Given the description of an element on the screen output the (x, y) to click on. 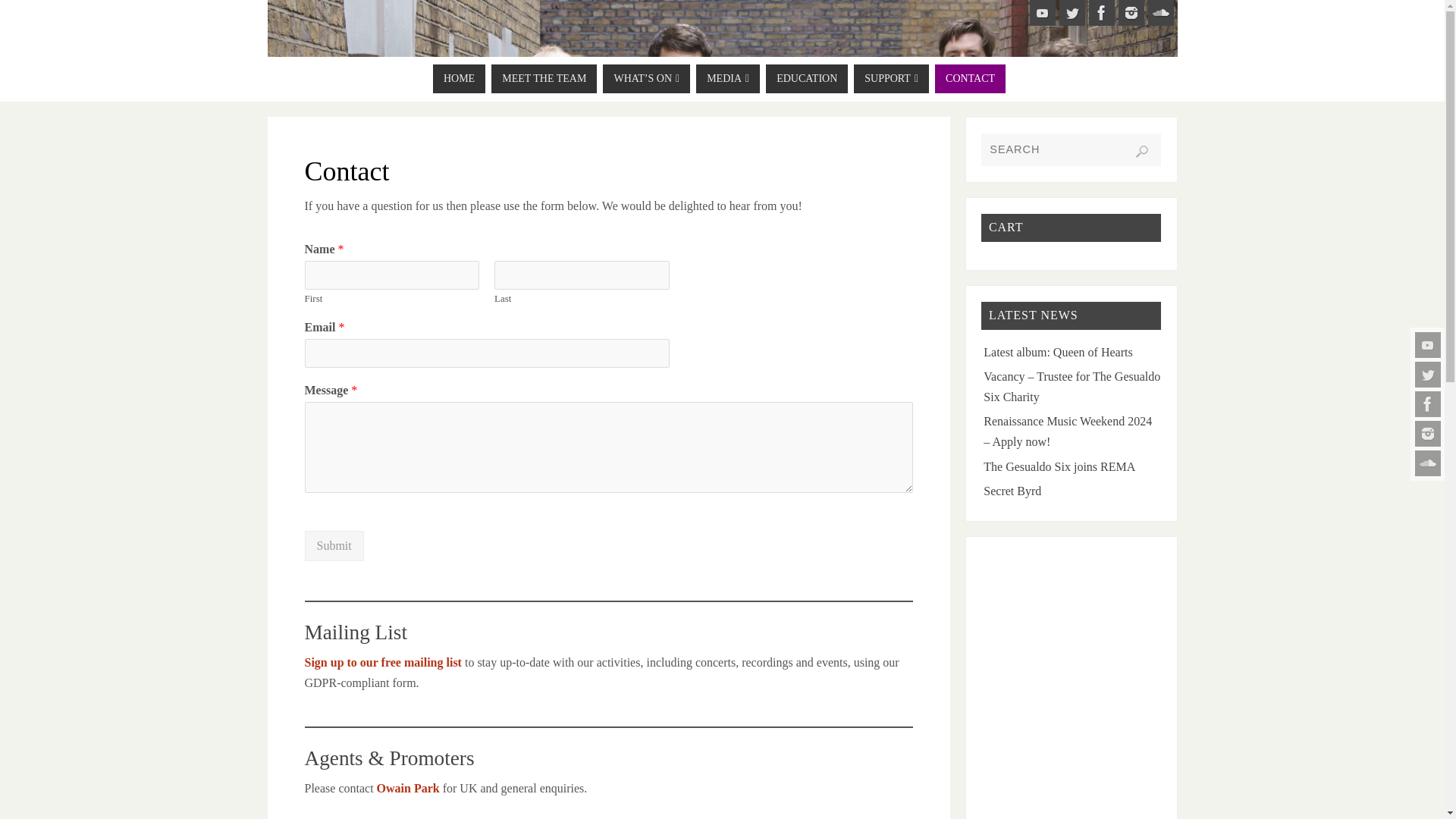
SoundCloud (1428, 462)
Sign up to our free mailing list (382, 662)
MEDIA (727, 78)
EDUCATION (806, 78)
Facebook (1102, 12)
SoundCloud (1160, 12)
Instagram (1130, 12)
Twitter (1071, 12)
Submit (334, 545)
Instagram (1428, 433)
